Given the description of an element on the screen output the (x, y) to click on. 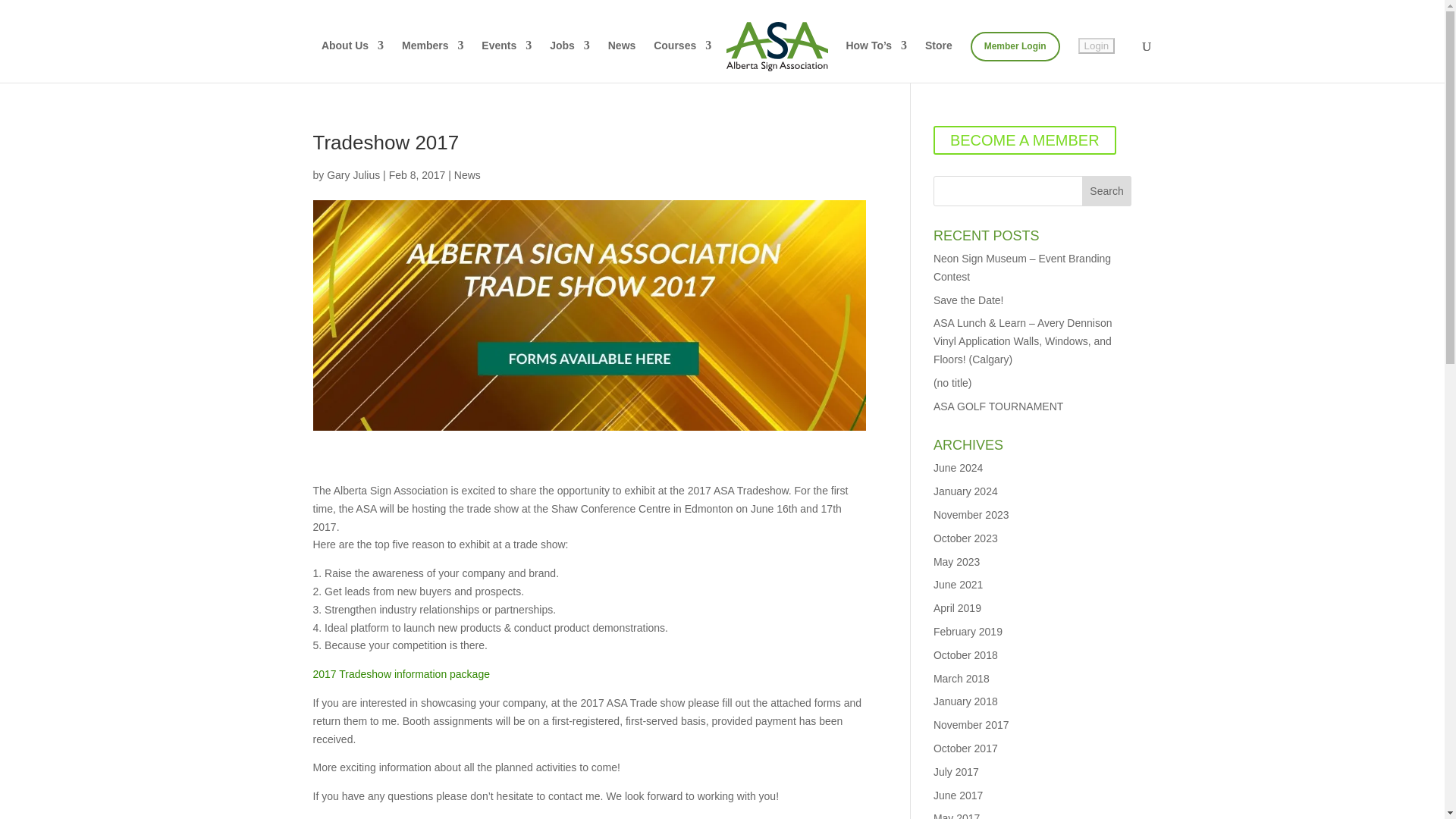
Login (1096, 45)
Login (1096, 45)
Events (506, 61)
Members (432, 61)
Jobs (569, 61)
About Us (352, 61)
Search (1106, 191)
Courses (682, 61)
Login (1096, 45)
Posts by Gary Julius (353, 174)
Member Login (1015, 46)
